Given the description of an element on the screen output the (x, y) to click on. 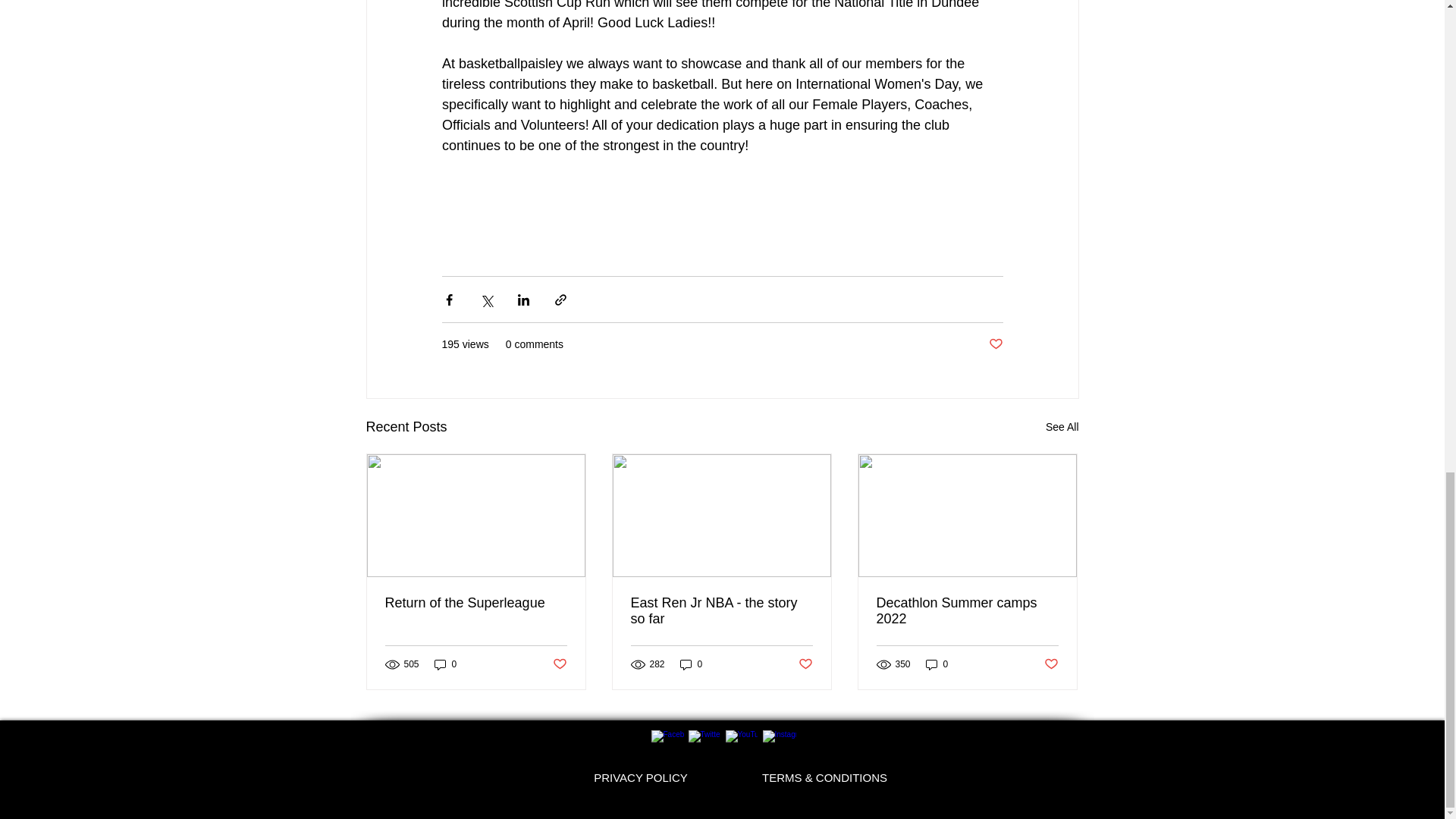
Return of the Superleague (476, 602)
Post not marked as liked (995, 344)
0 (691, 664)
Post not marked as liked (1050, 664)
Post not marked as liked (804, 664)
Decathlon Summer camps 2022 (967, 611)
Post not marked as liked (558, 664)
0 (937, 664)
East Ren Jr NBA - the story so far (721, 611)
0 (445, 664)
